Given the description of an element on the screen output the (x, y) to click on. 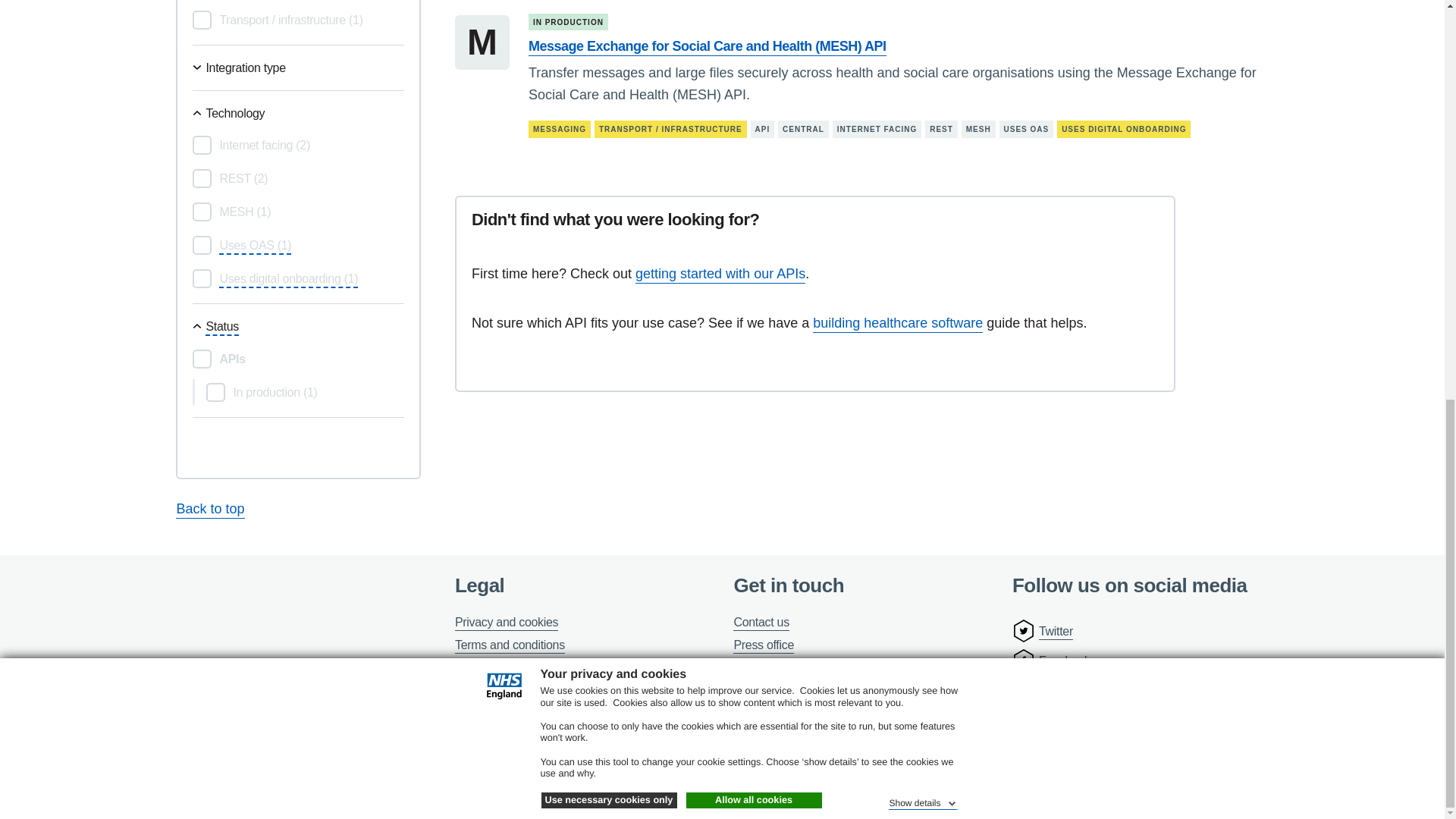
Use necessary cookies only (609, 20)
Allow all cookies (753, 20)
Show details (923, 20)
